Given the description of an element on the screen output the (x, y) to click on. 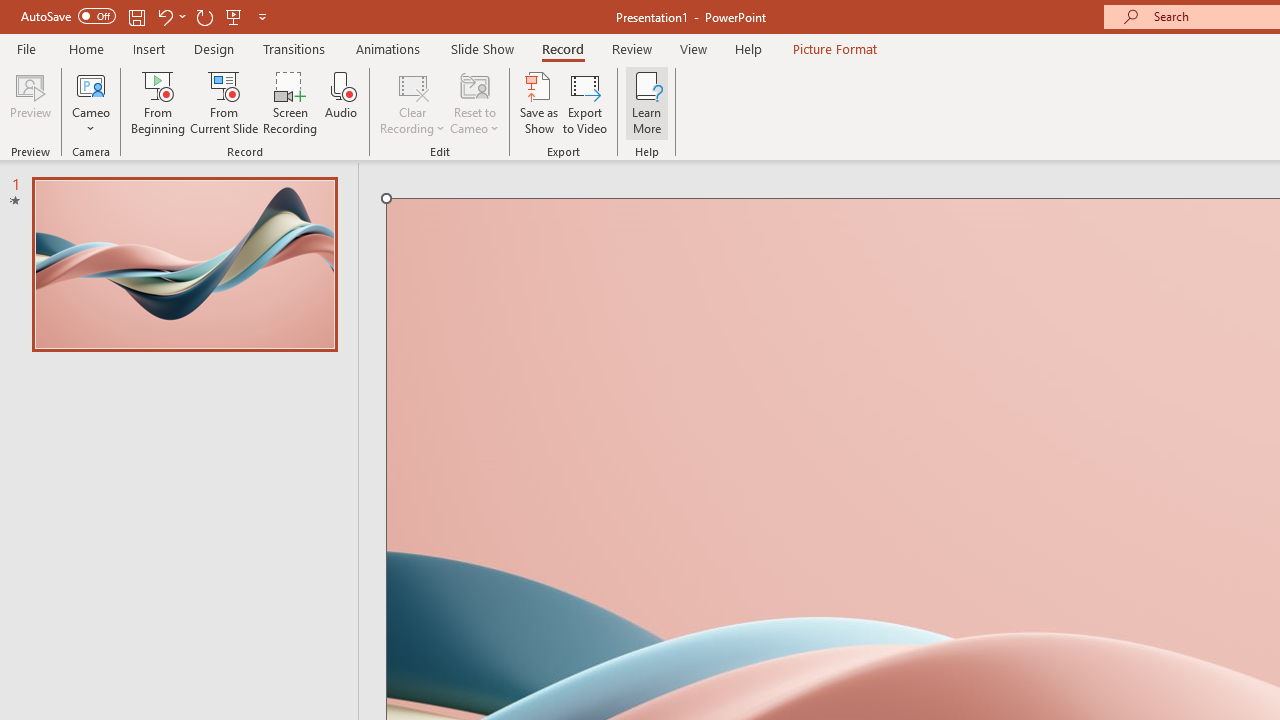
Picture Format (834, 48)
From Beginning (234, 15)
From Current Slide... (224, 102)
Transitions (294, 48)
Cameo (91, 102)
View (693, 48)
